Given the description of an element on the screen output the (x, y) to click on. 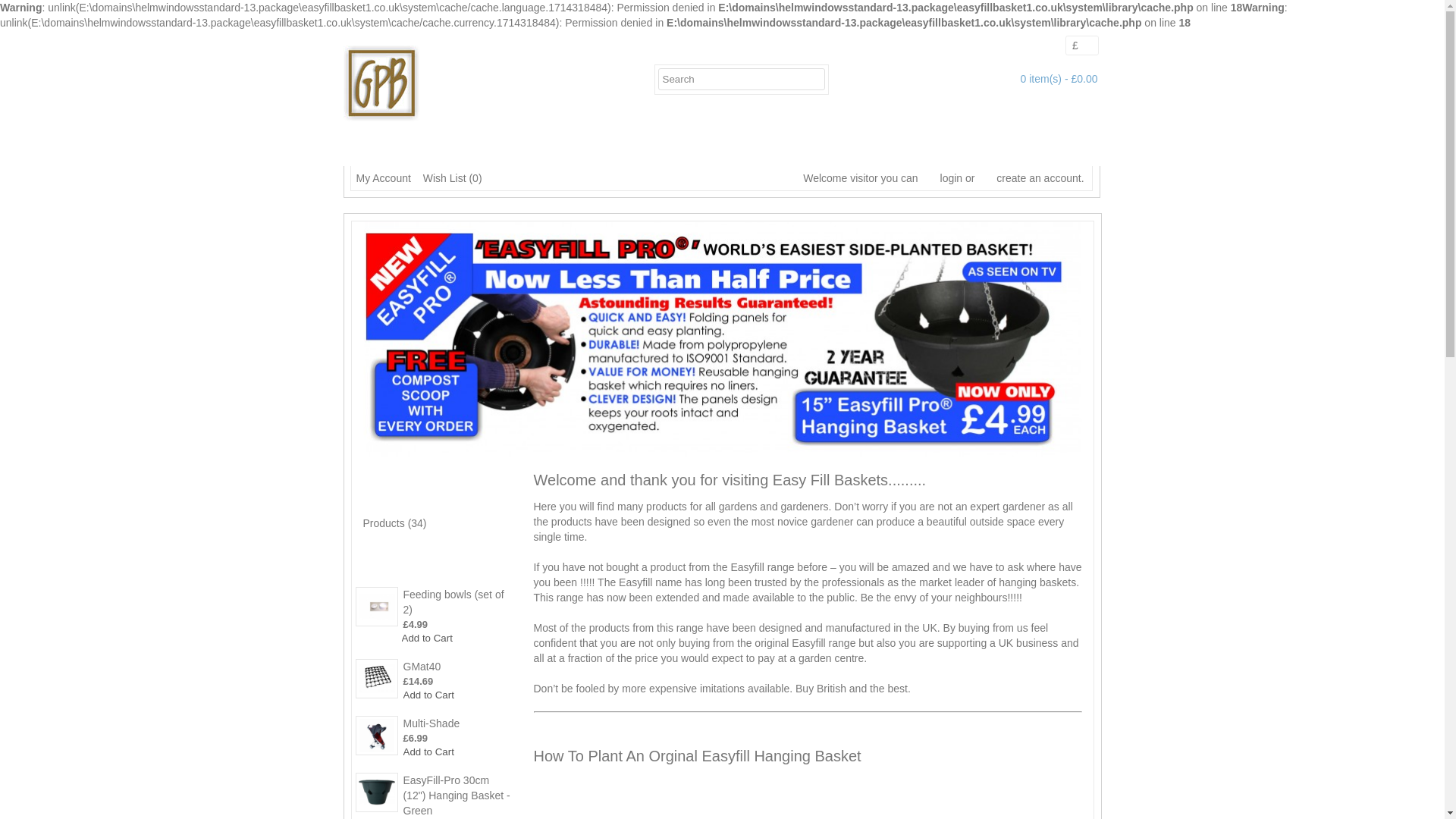
ABOUT US (461, 143)
PRODUCTS (678, 143)
Add to Cart (428, 695)
login (941, 177)
GBP Products LTD (380, 83)
Add to Cart (428, 751)
Multi-Shade (458, 723)
GMat40 (458, 666)
create an account (1028, 177)
My Account (380, 177)
